Given the description of an element on the screen output the (x, y) to click on. 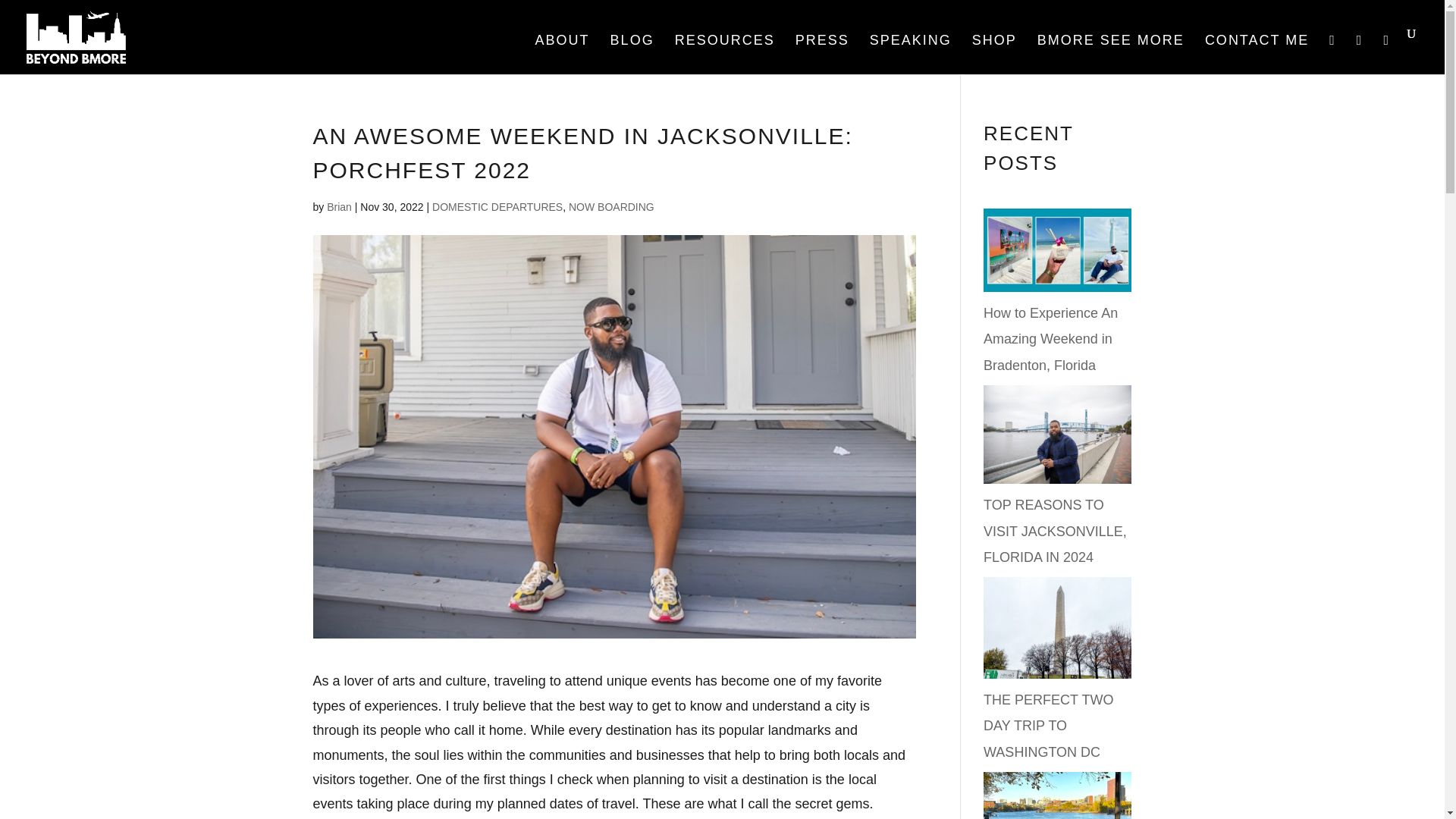
SPEAKING (910, 53)
CONTACT ME (1256, 53)
SHOP (994, 53)
How to Experience An Amazing Weekend in Bradenton, Florida (1051, 338)
NOW BOARDING (611, 206)
PRESS (821, 53)
BLOG (631, 53)
Posts by Brian (339, 206)
DOMESTIC DEPARTURES (497, 206)
RESOURCES (724, 53)
Brian (339, 206)
BMORE SEE MORE (1110, 53)
ABOUT (562, 53)
